Given the description of an element on the screen output the (x, y) to click on. 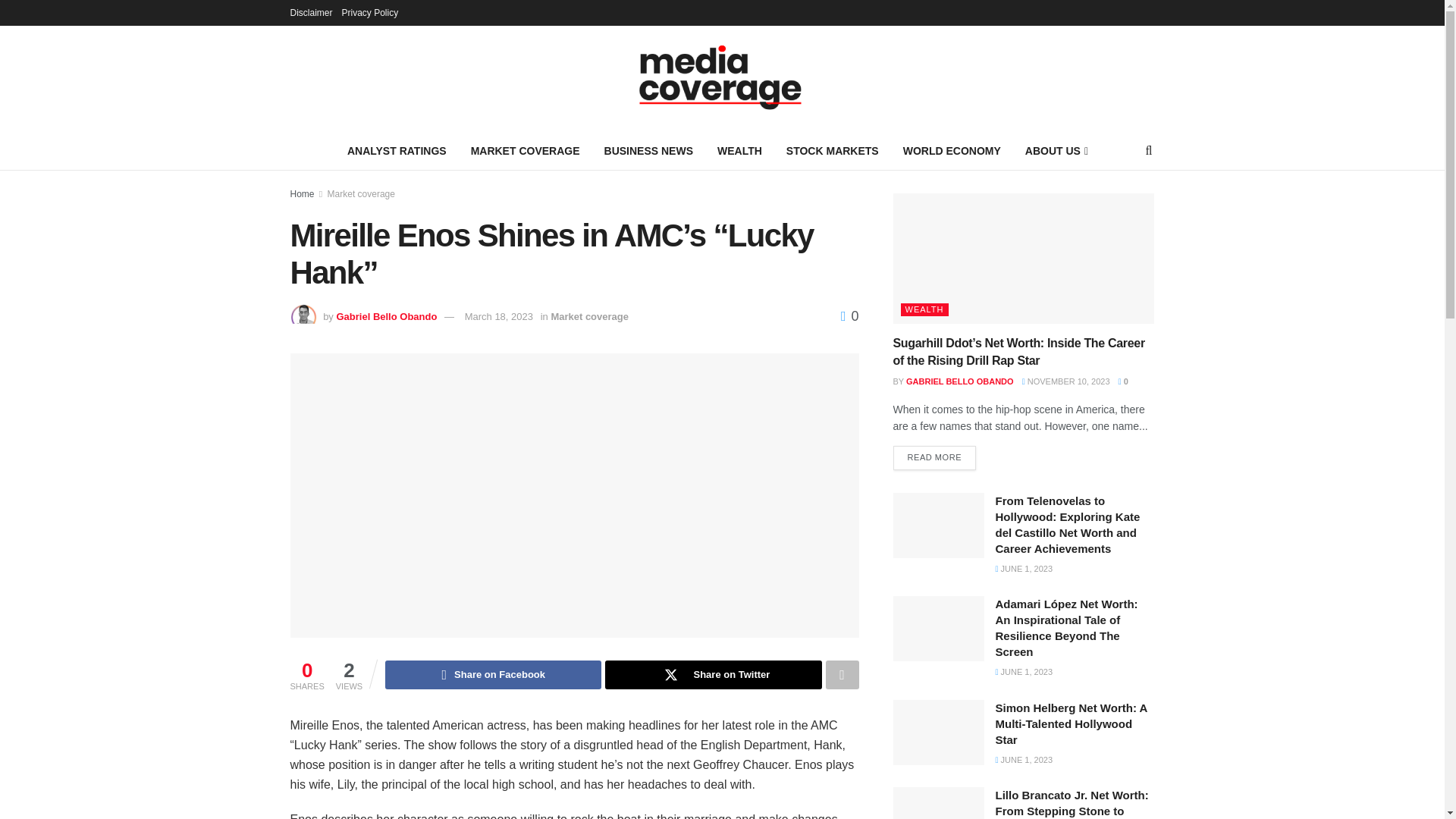
WORLD ECONOMY (952, 150)
Market coverage (360, 194)
0 (850, 315)
Share on Facebook (493, 674)
Market coverage (589, 316)
BUSINESS NEWS (648, 150)
Disclaimer (310, 12)
STOCK MARKETS (832, 150)
Privacy Policy (370, 12)
ABOUT US (1055, 150)
